Given the description of an element on the screen output the (x, y) to click on. 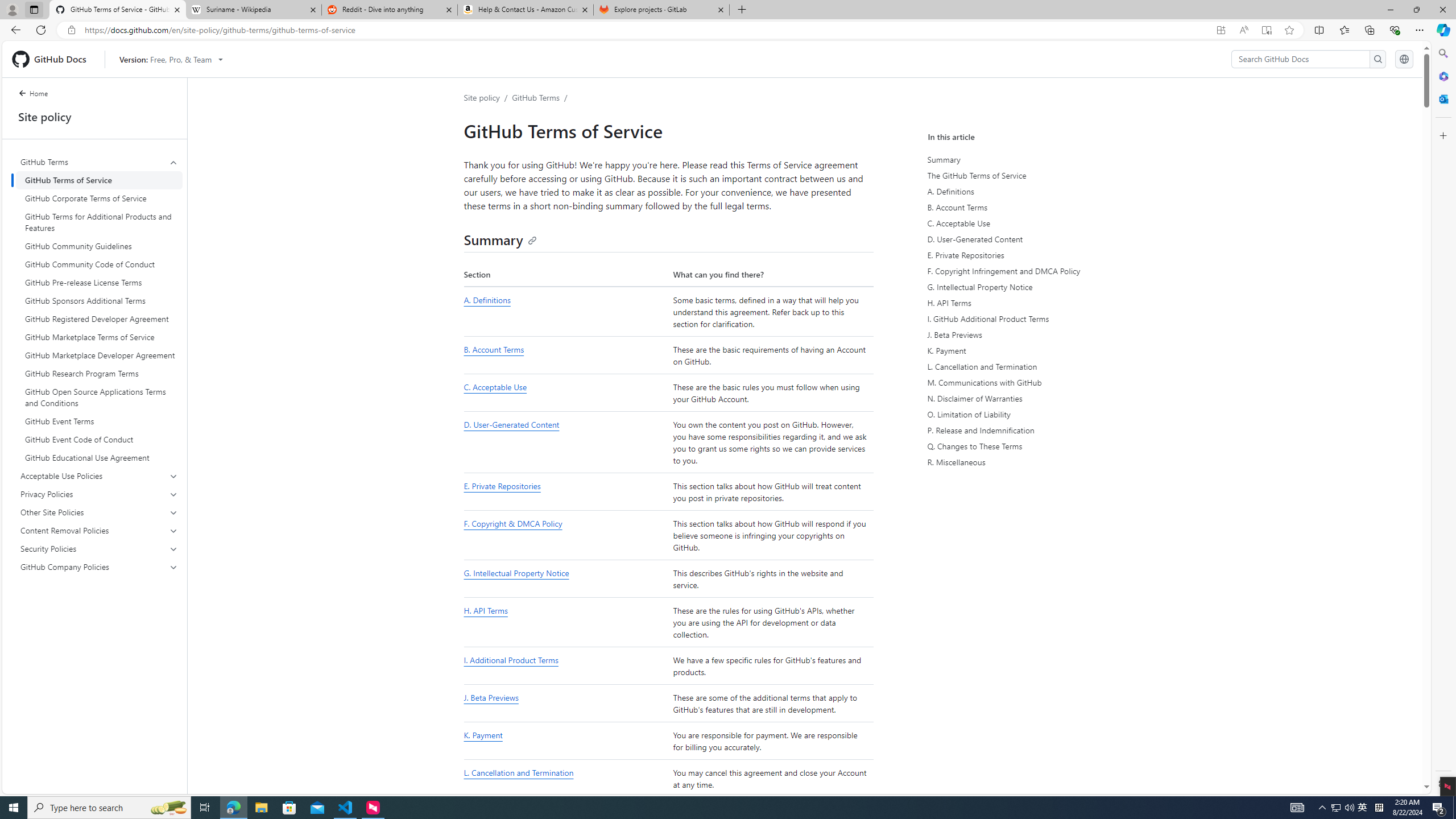
GitHub Company Policies (99, 566)
A. Definitions (487, 300)
C. Acceptable Use (495, 387)
I. GitHub Additional Product Terms (1032, 318)
E. Private Repositories (565, 492)
A. Definitions (1032, 191)
GitHub Corporate Terms of Service (99, 198)
P. Release and Indemnification (1032, 430)
App available. Install GitHub Docs (1220, 29)
GitHub Terms/ (542, 97)
GitHub Educational Use Agreement (99, 457)
